Given the description of an element on the screen output the (x, y) to click on. 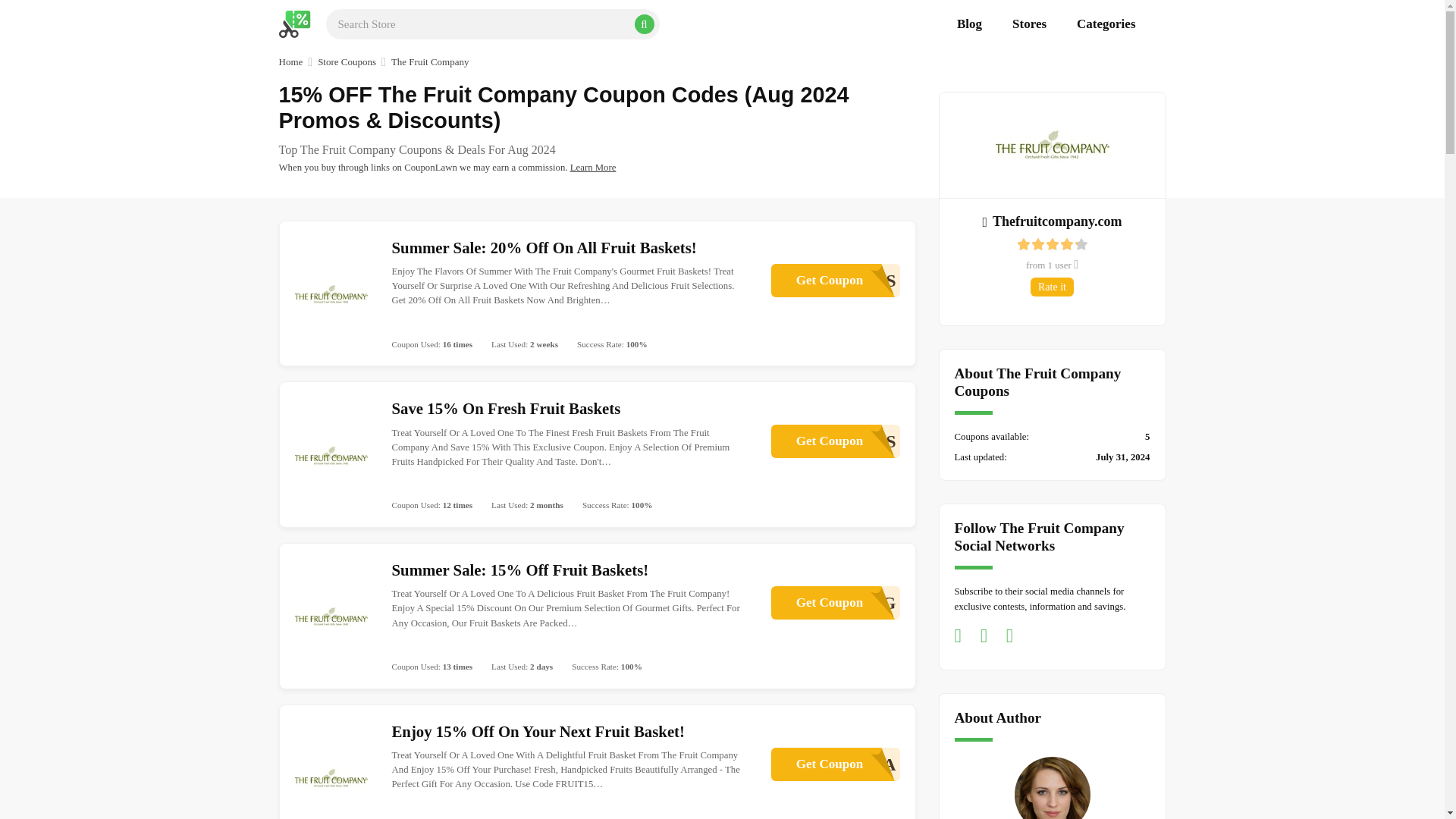
Store Coupons (346, 61)
Home (290, 61)
Learn More (834, 280)
Thefruitcompany.com (592, 167)
Rate it (1051, 220)
Categories (834, 764)
